Given the description of an element on the screen output the (x, y) to click on. 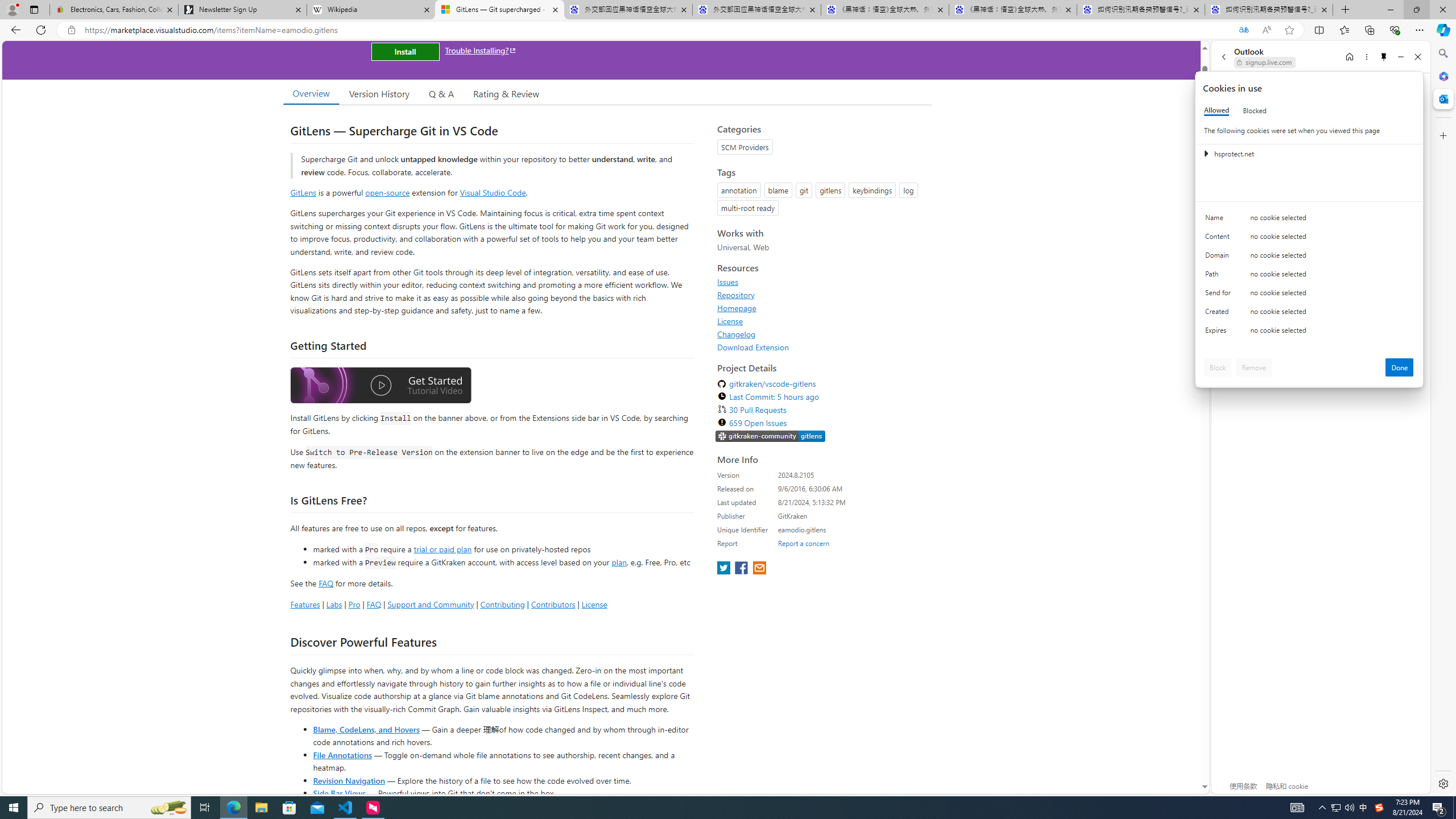
Content (1219, 239)
Done (1399, 367)
Allowed (1216, 110)
Remove (1253, 367)
Class: c0153 c0157 (1309, 332)
Expires (1219, 332)
Block (1217, 367)
Path (1219, 276)
Domain (1219, 257)
Created (1219, 313)
Name (1219, 220)
Class: c0153 c0157 c0154 (1309, 220)
Send for (1219, 295)
Blocked (1255, 110)
no cookie selected (1331, 332)
